Given the description of an element on the screen output the (x, y) to click on. 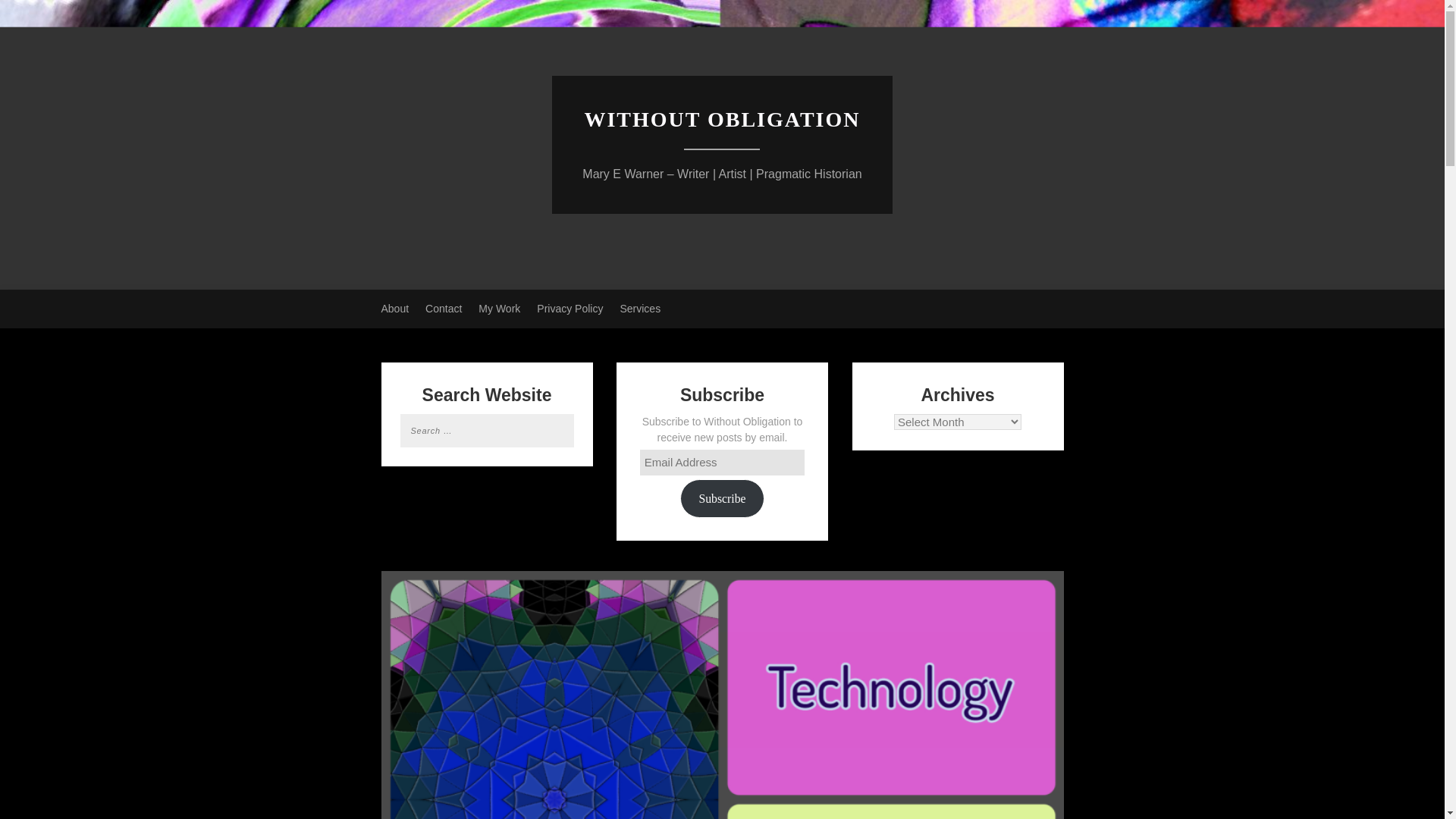
Search (31, 12)
Subscribe (720, 498)
Services (640, 308)
Contact (443, 308)
My Work (499, 308)
Privacy Policy (569, 308)
